Given the description of an element on the screen output the (x, y) to click on. 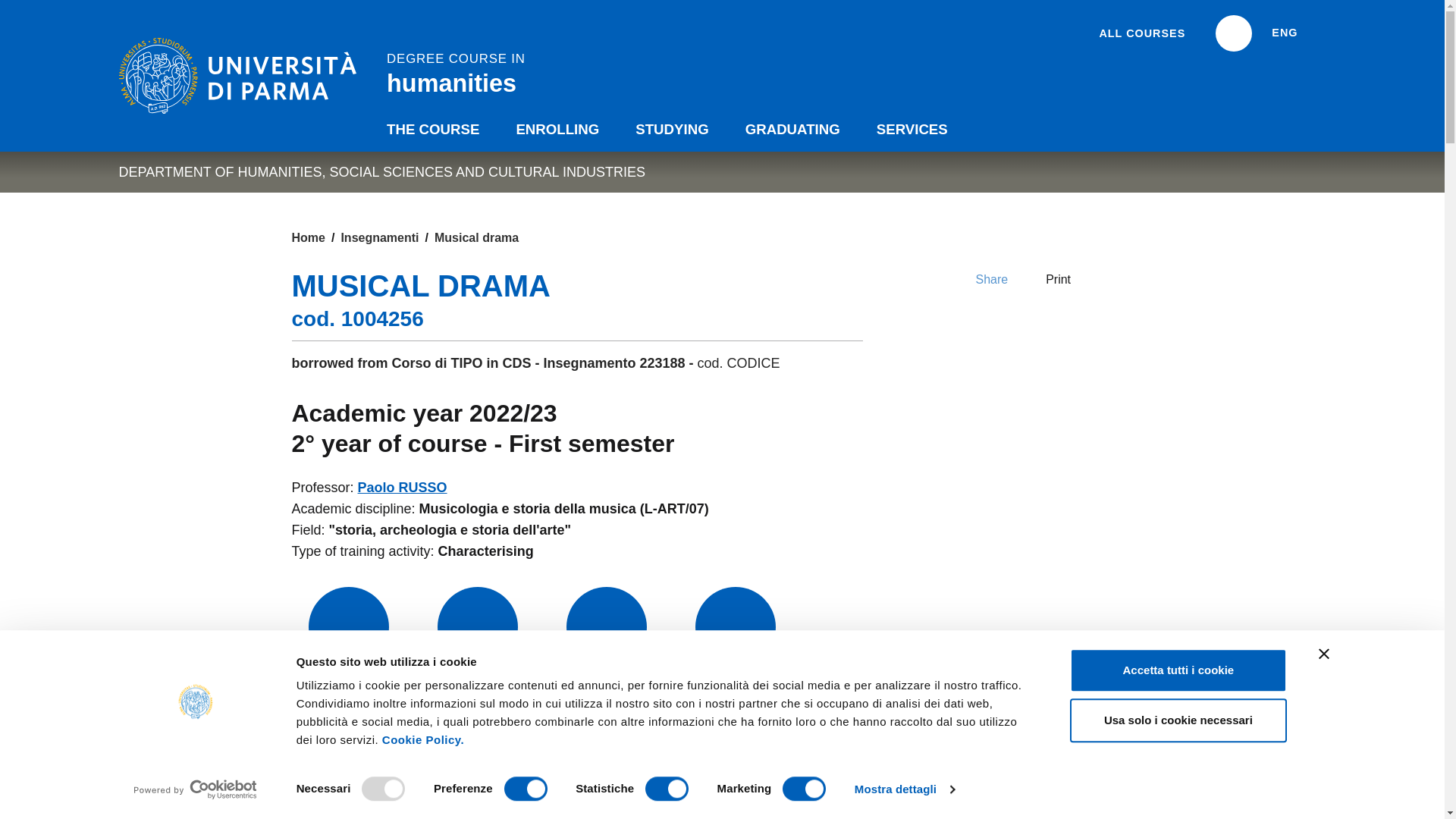
Cookie Policy. (422, 739)
Mostra dettagli (904, 789)
